Given the description of an element on the screen output the (x, y) to click on. 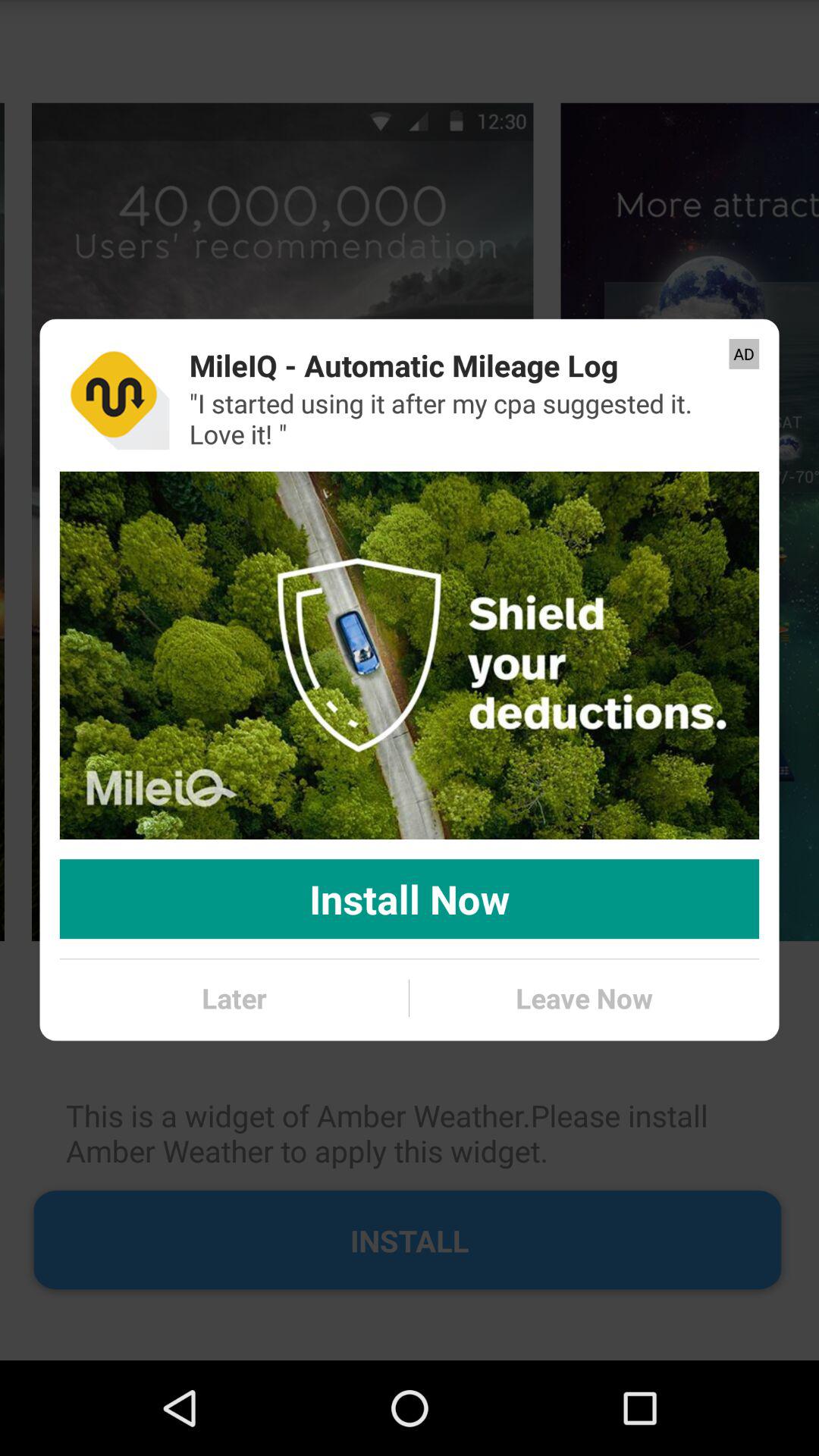
turn off the item below the i started using icon (409, 655)
